Given the description of an element on the screen output the (x, y) to click on. 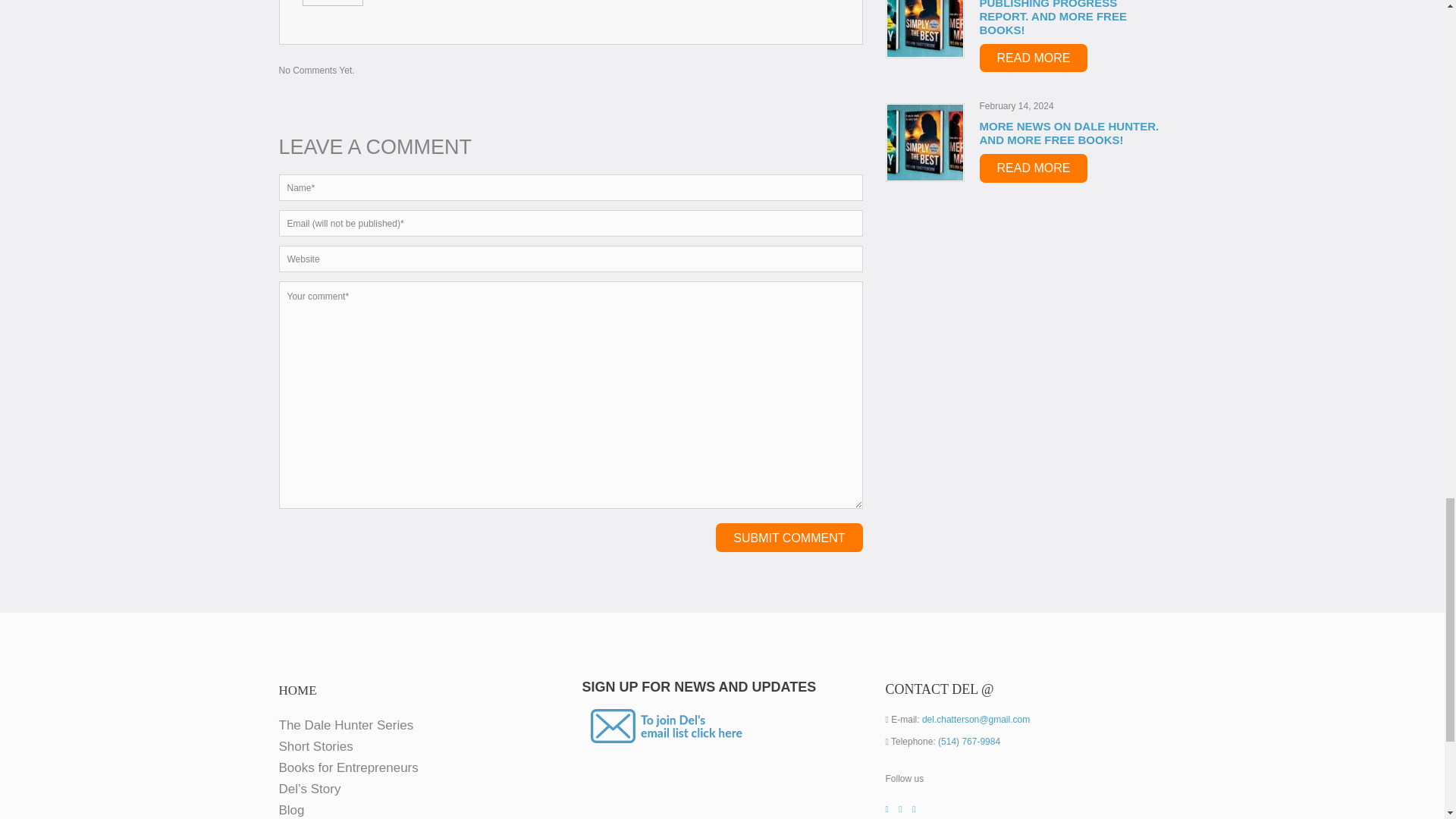
Website (571, 258)
Submit Comment (788, 537)
Submit Comment (788, 537)
